Given the description of an element on the screen output the (x, y) to click on. 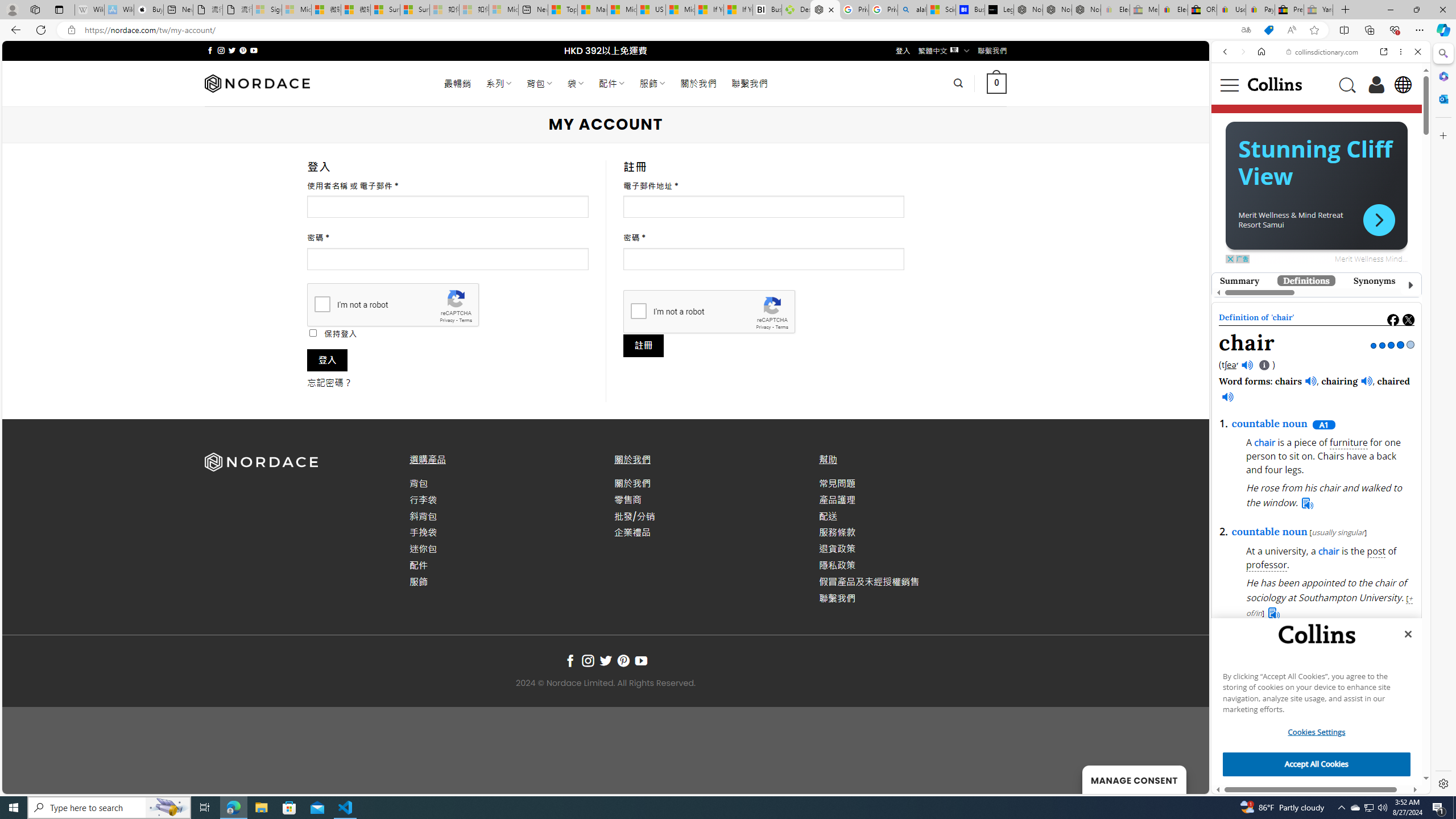
moderate (1285, 481)
direct (1355, 481)
Follow on Instagram (588, 660)
Show more (1381, 480)
Microsoft account | Account Checkup - Sleeping (502, 9)
furniture (1348, 442)
